Given the description of an element on the screen output the (x, y) to click on. 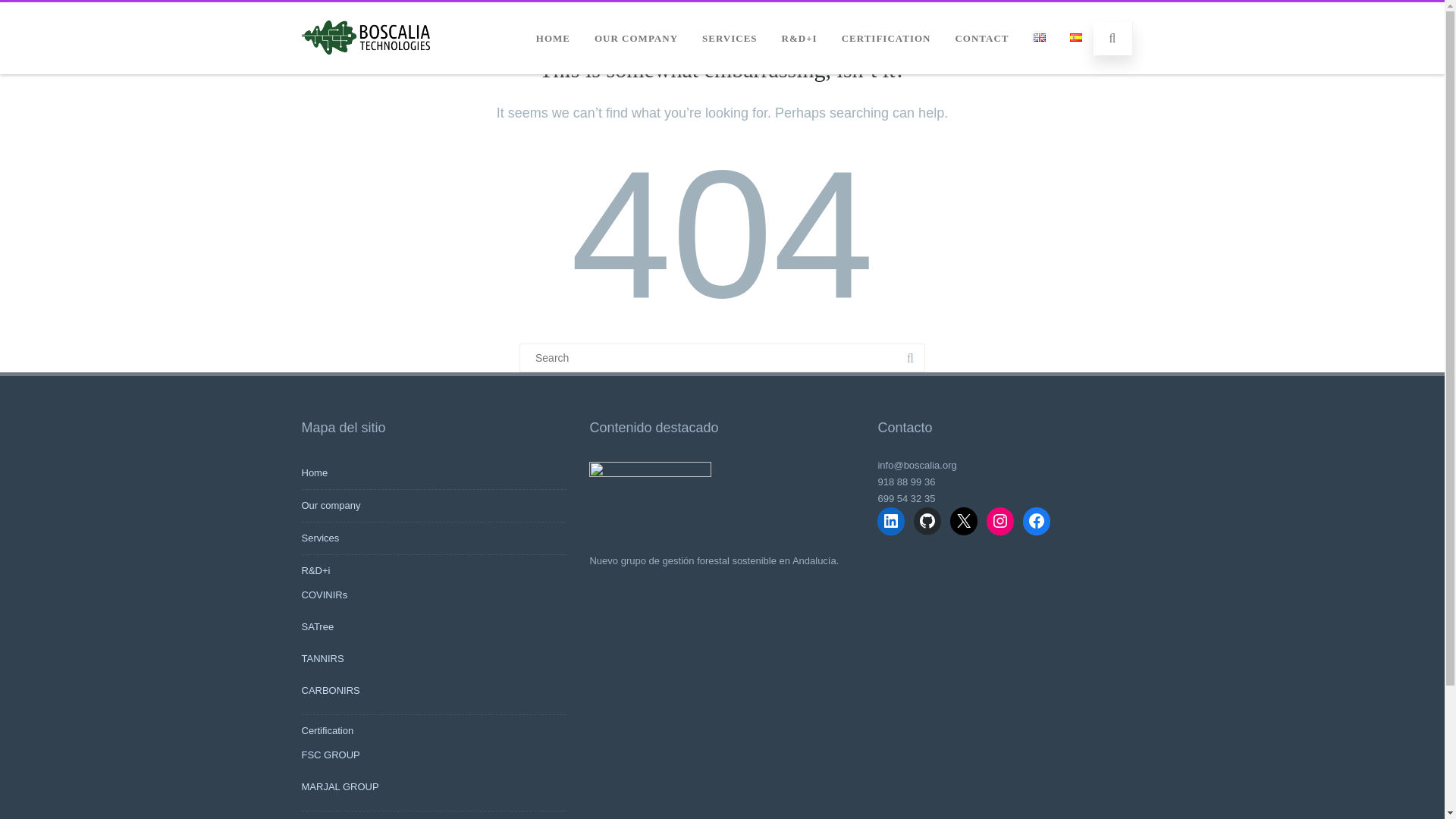
CONTACT (981, 37)
Services (320, 537)
OUR COMPANY (635, 37)
Home (315, 472)
Our company (331, 505)
SERVICES (729, 37)
HOME (552, 37)
CERTIFICATION (885, 37)
TANNIRS (322, 658)
Boscalia Technologies (365, 69)
